Given the description of an element on the screen output the (x, y) to click on. 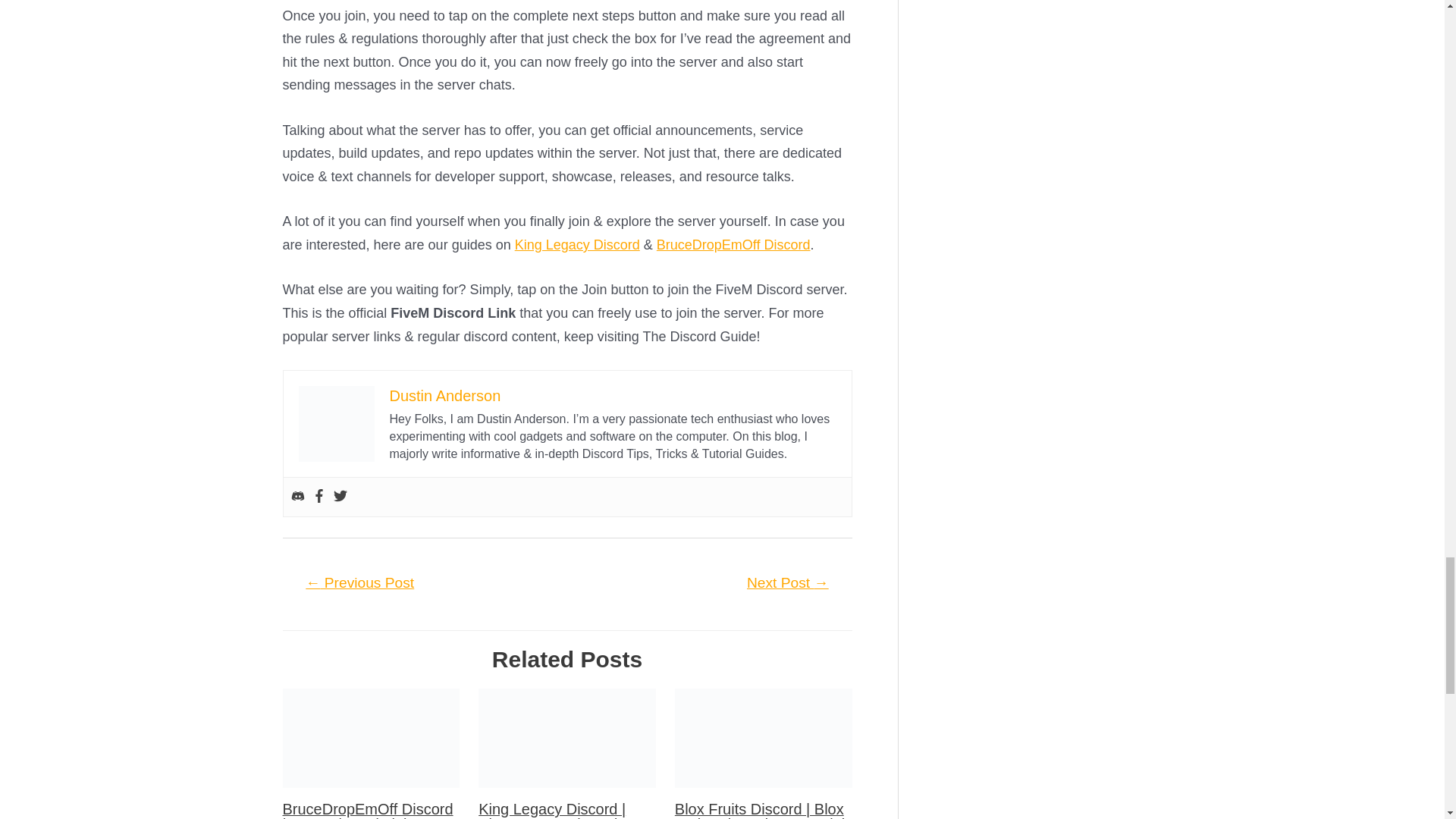
King Legacy Discord (577, 244)
Dustin Anderson (445, 395)
BruceDropEmOff Discord (733, 244)
Facebook (319, 496)
Twitter (340, 496)
Discord (297, 496)
